Given the description of an element on the screen output the (x, y) to click on. 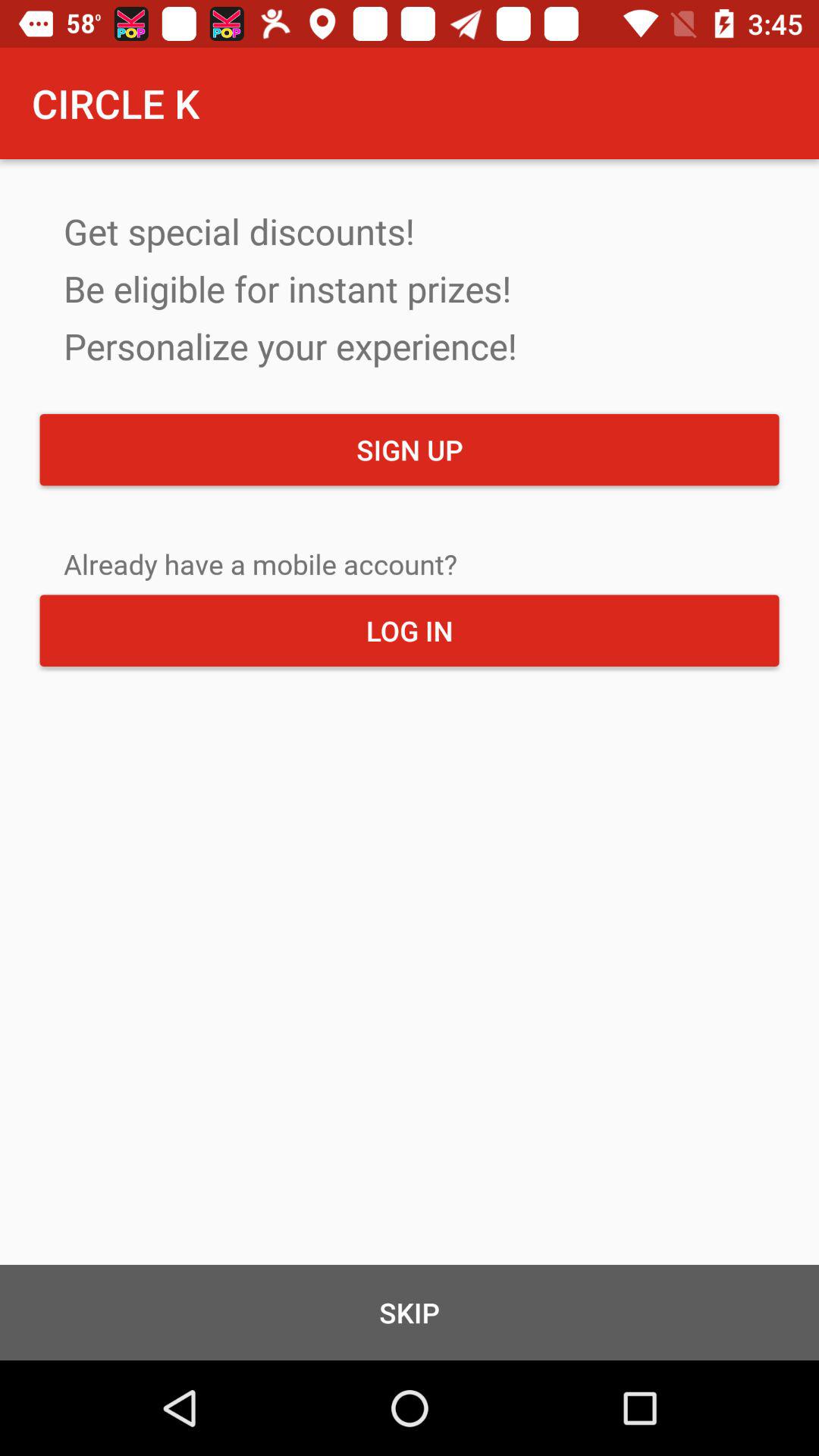
turn off skip (409, 1312)
